Given the description of an element on the screen output the (x, y) to click on. 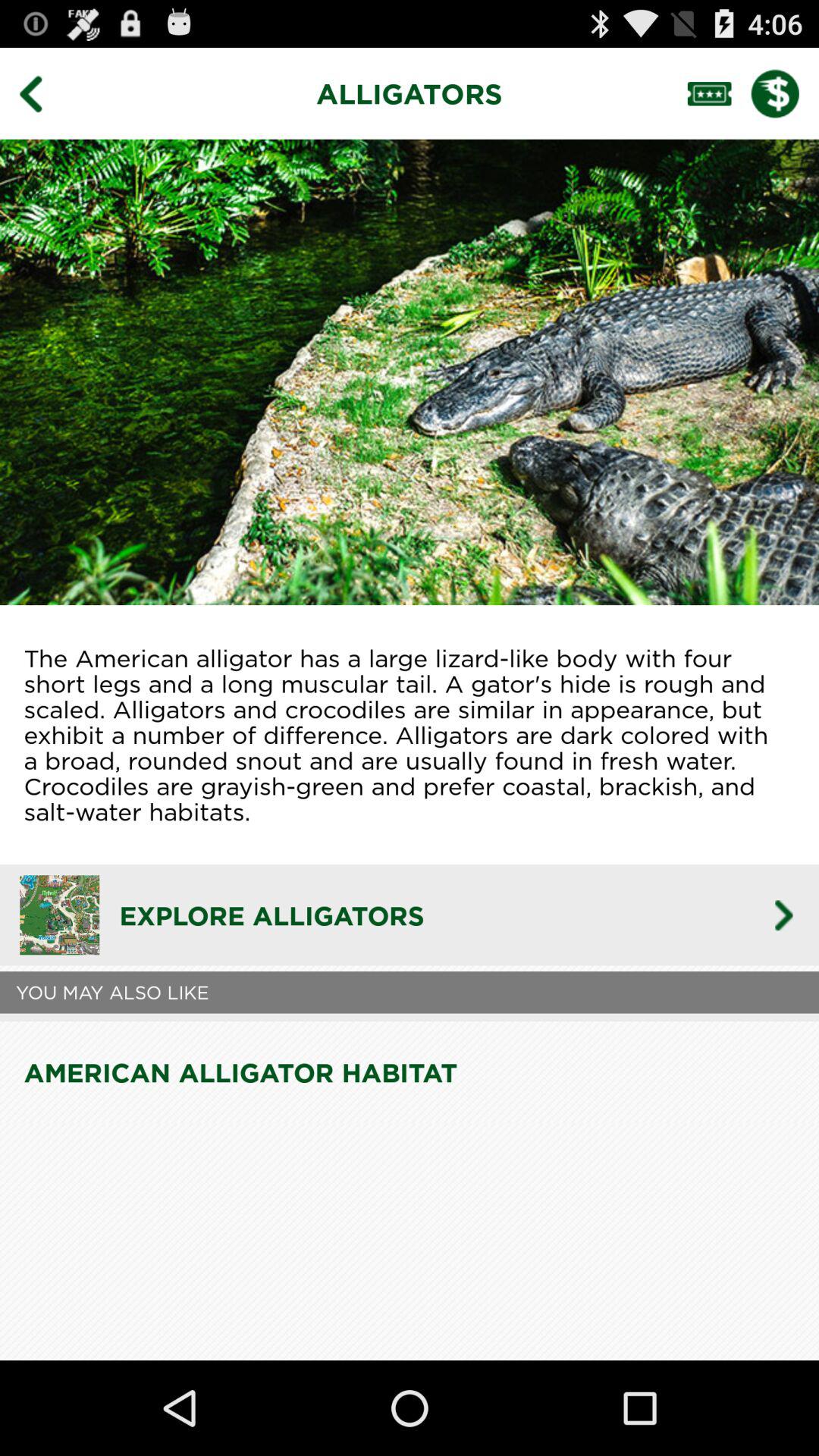
turn off item to the left of the alligators app (41, 93)
